Given the description of an element on the screen output the (x, y) to click on. 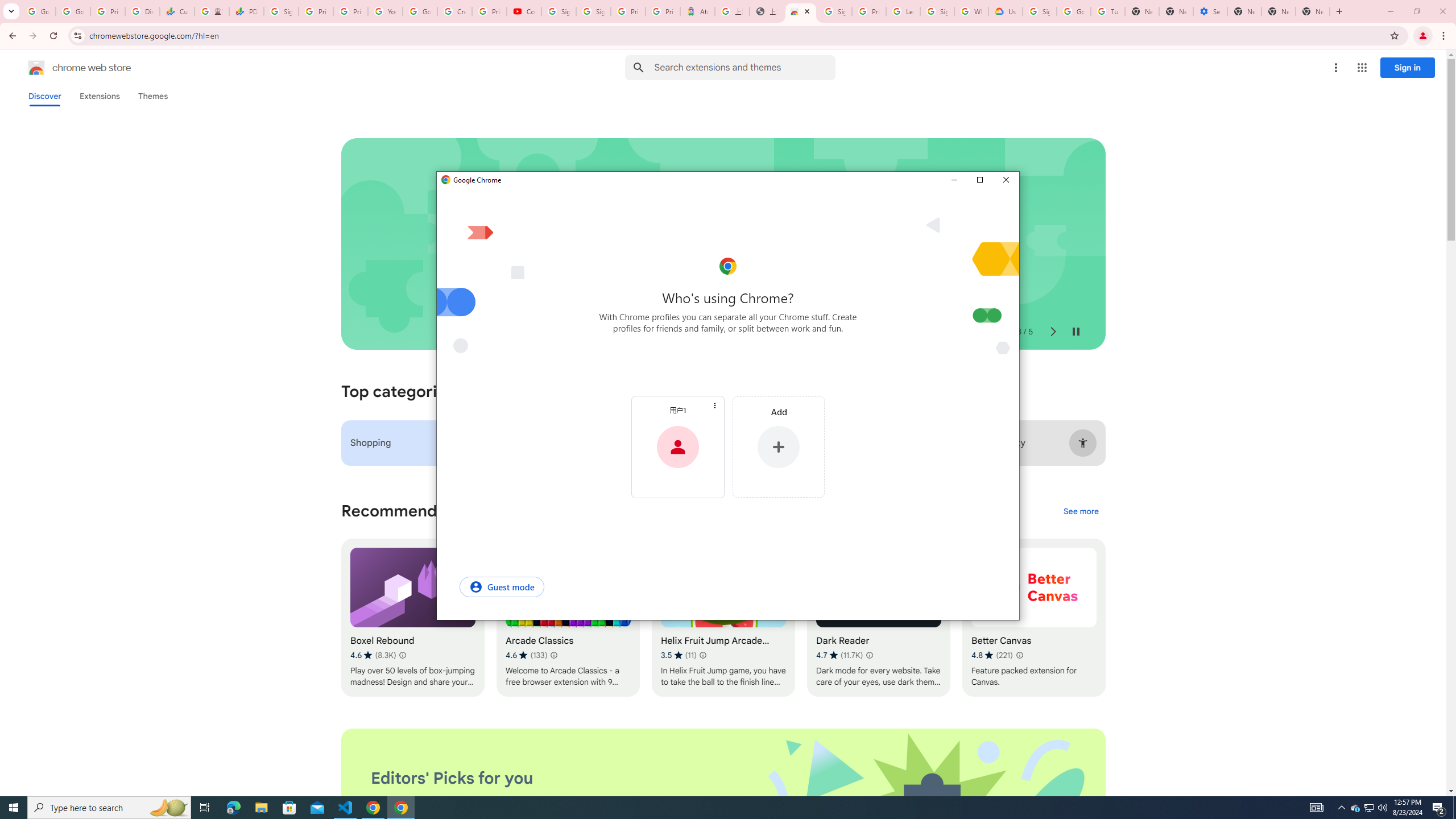
Running applications (717, 807)
Average rating 4.6 out of 5 stars. 8.3K ratings. (372, 655)
Search input (744, 67)
Discover (1368, 807)
Average rating 4.7 out of 5 stars. 11.7K ratings. (43, 95)
File Explorer (839, 655)
More options menu (261, 807)
Create your Google Account (1335, 67)
Maximize (454, 11)
